Given the description of an element on the screen output the (x, y) to click on. 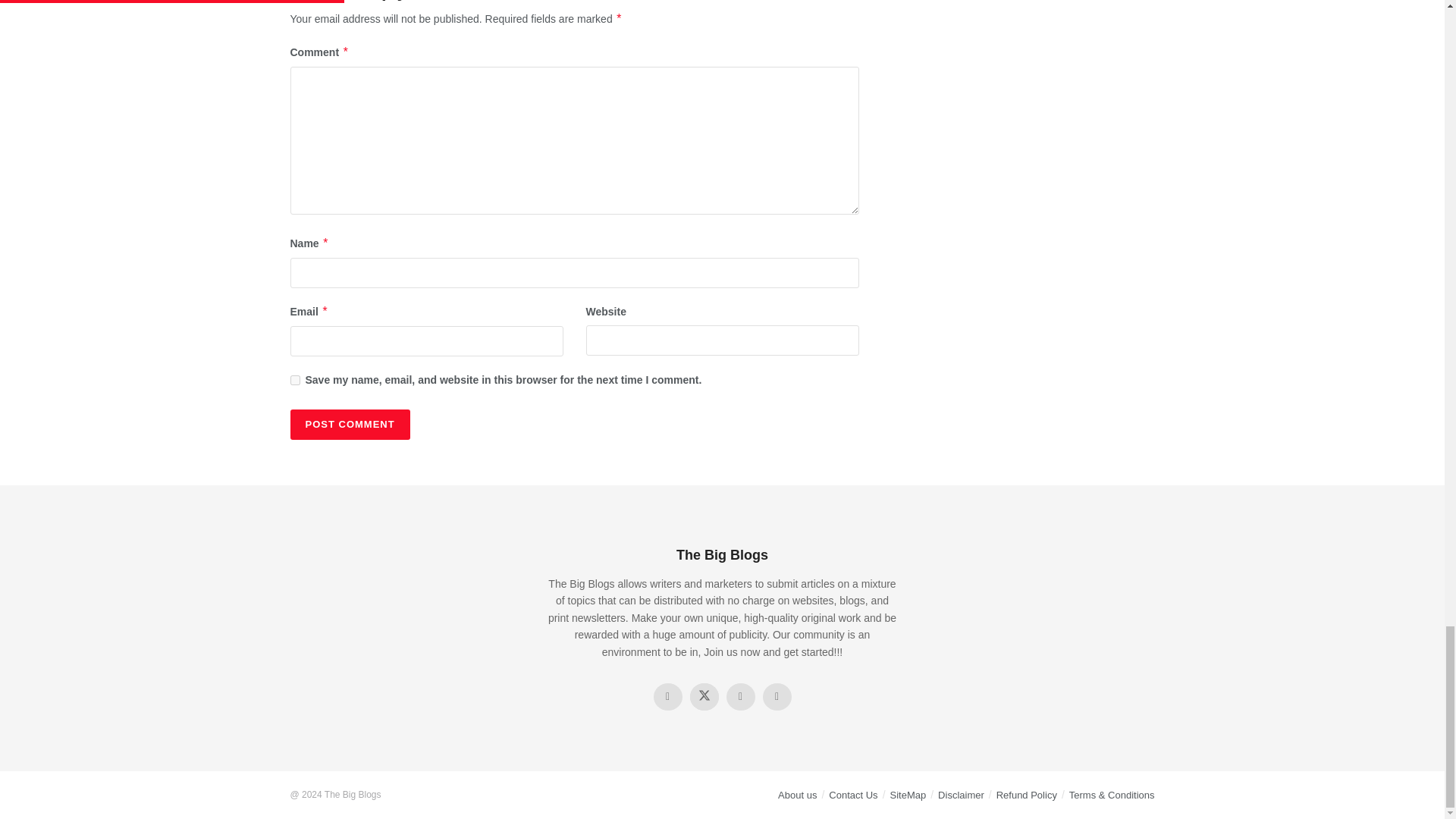
Post Comment (349, 424)
yes (294, 379)
